Given the description of an element on the screen output the (x, y) to click on. 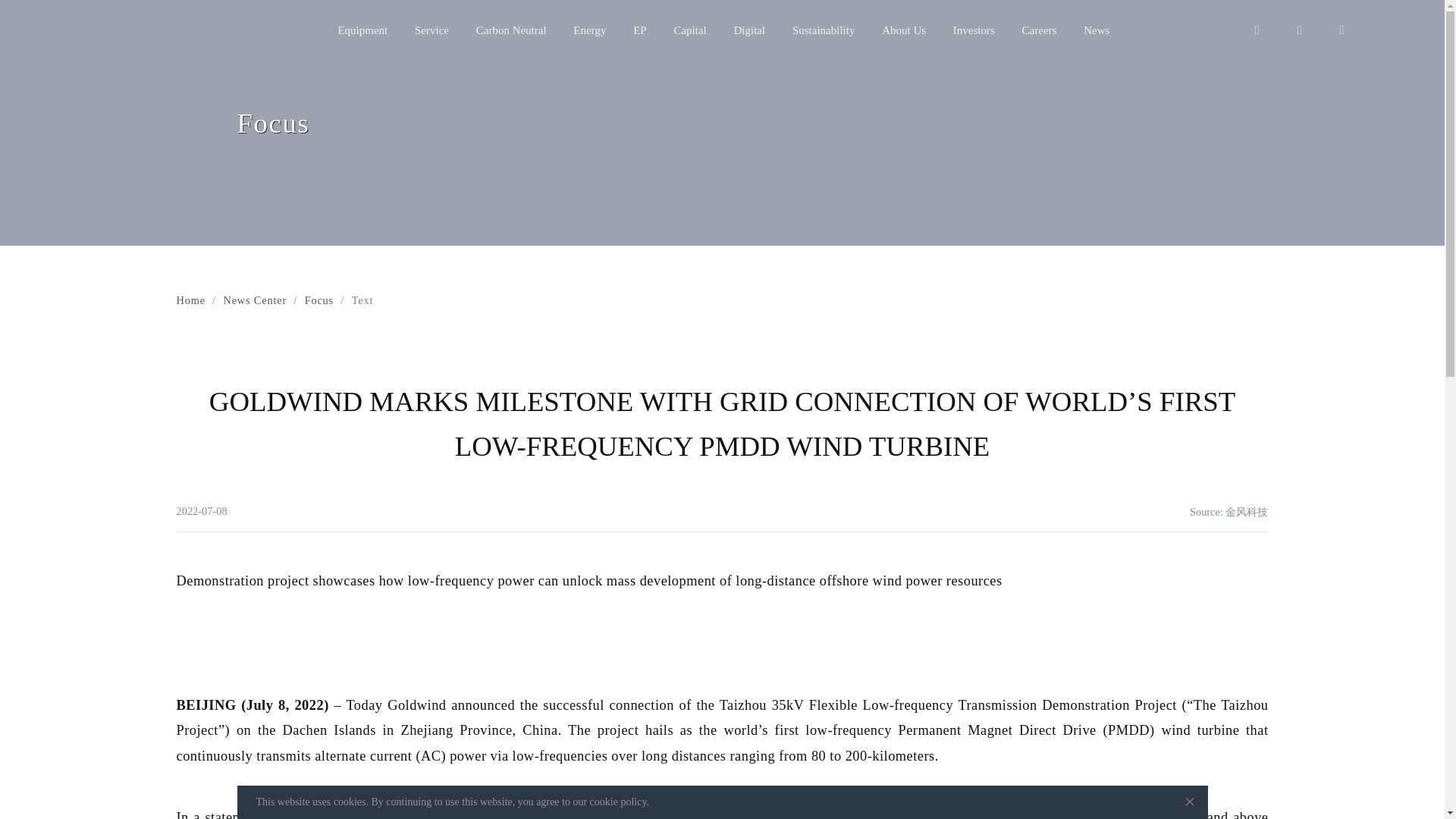
Carbon Neutral (511, 30)
Email (1299, 30)
Sustainability (824, 30)
